Given the description of an element on the screen output the (x, y) to click on. 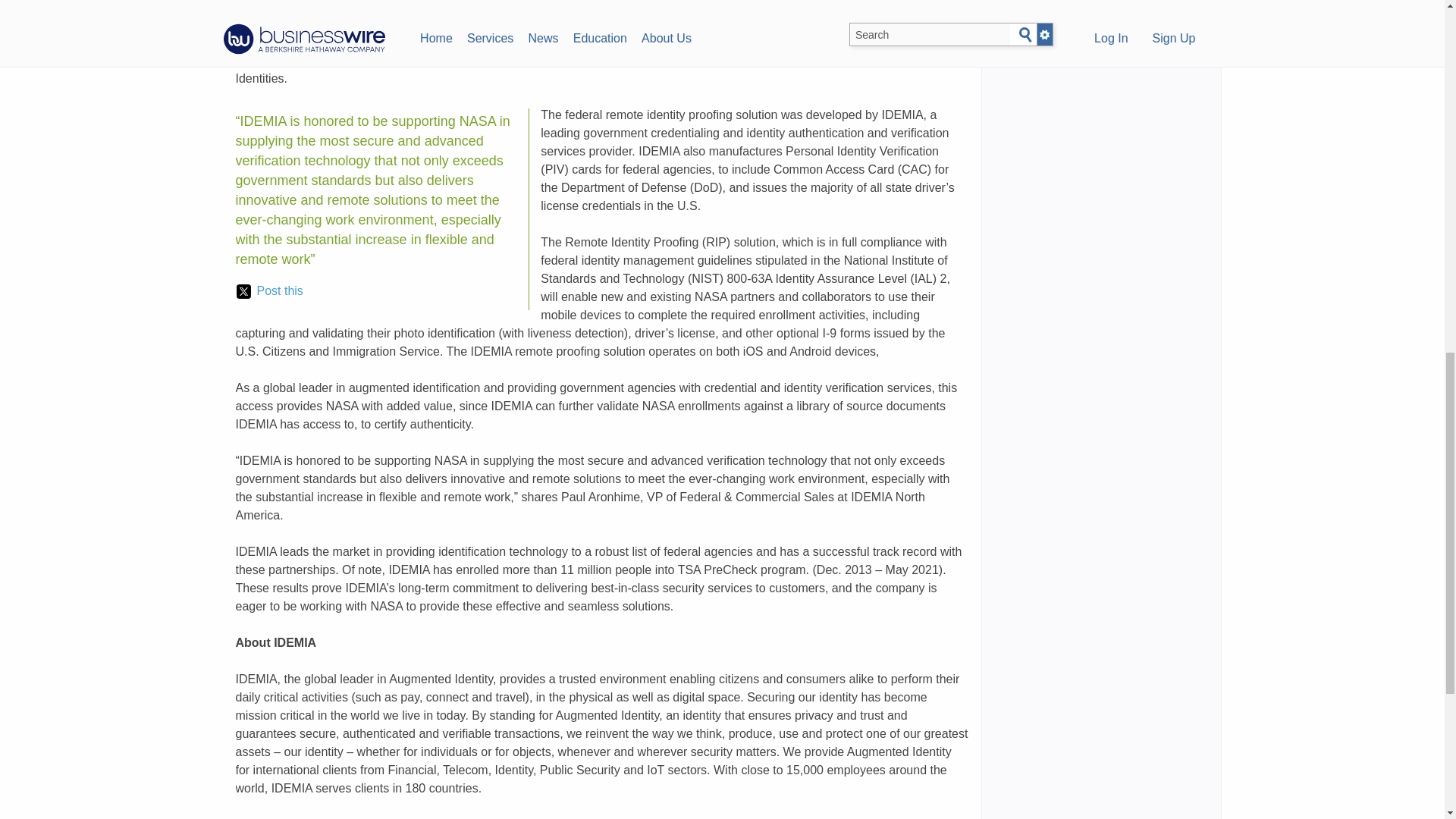
Post this (269, 291)
BUSINESS WIRE (370, 42)
